Given the description of an element on the screen output the (x, y) to click on. 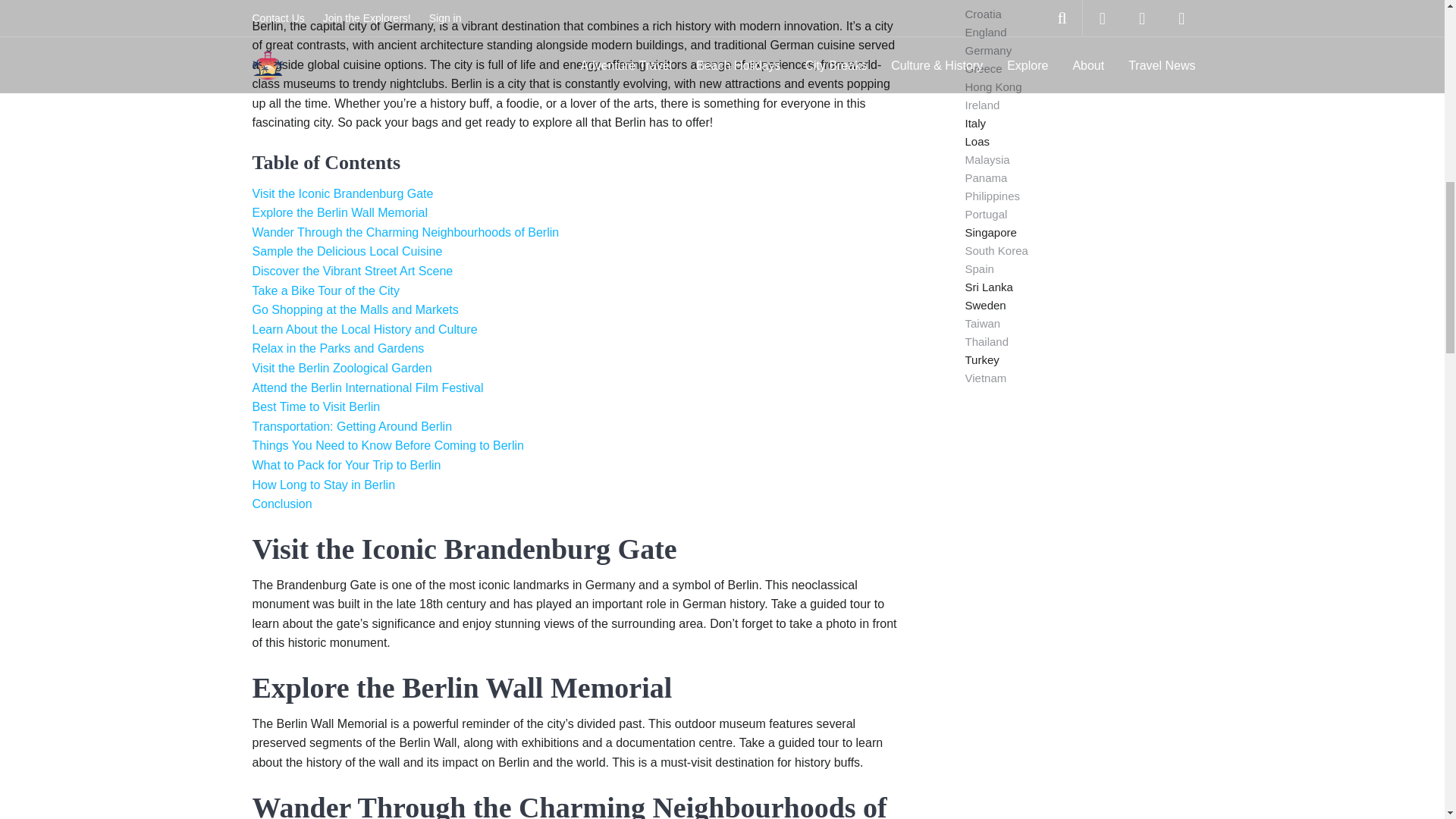
Conclusion (281, 503)
Visit the Iconic Brandenburg Gate (341, 193)
Wander Through the Charming Neighbourhoods of Berlin (405, 232)
Discover the Vibrant Street Art Scene (351, 270)
How Long to Stay in Berlin (322, 484)
What to Pack for Your Trip to Berlin (346, 464)
Explore the Berlin Wall Memorial (338, 212)
Sample the Delicious Local Cuisine (346, 250)
Best Time to Visit Berlin (315, 406)
Go Shopping at the Malls and Markets (354, 309)
Attend the Berlin International Film Festival (367, 387)
Visit the Berlin Zoological Garden (340, 367)
Things You Need to Know Before Coming to Berlin (386, 445)
Take a Bike Tour of the City (324, 290)
Relax in the Parks and Gardens (337, 348)
